Given the description of an element on the screen output the (x, y) to click on. 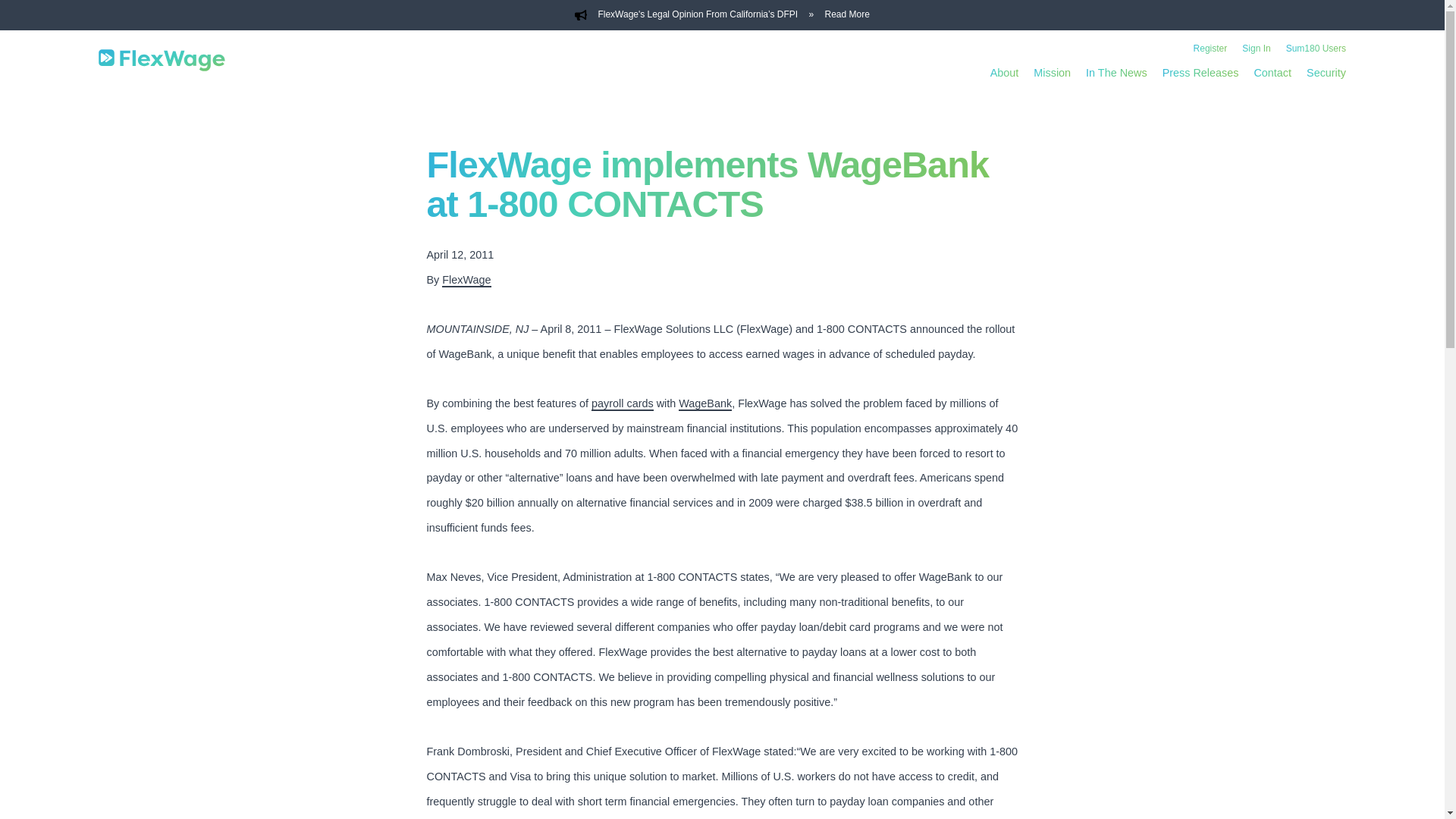
payroll cards (622, 404)
About (1004, 72)
Press Releases (1200, 72)
Register (1210, 48)
Mission (1051, 72)
Contact (1272, 72)
Security (1325, 72)
Sign In (1255, 48)
WageBank (705, 404)
Payroll Cards (622, 404)
In The News (1116, 72)
WageBank (705, 404)
Read More (847, 14)
Sum180 Users (1315, 48)
FlexWage (466, 280)
